Given the description of an element on the screen output the (x, y) to click on. 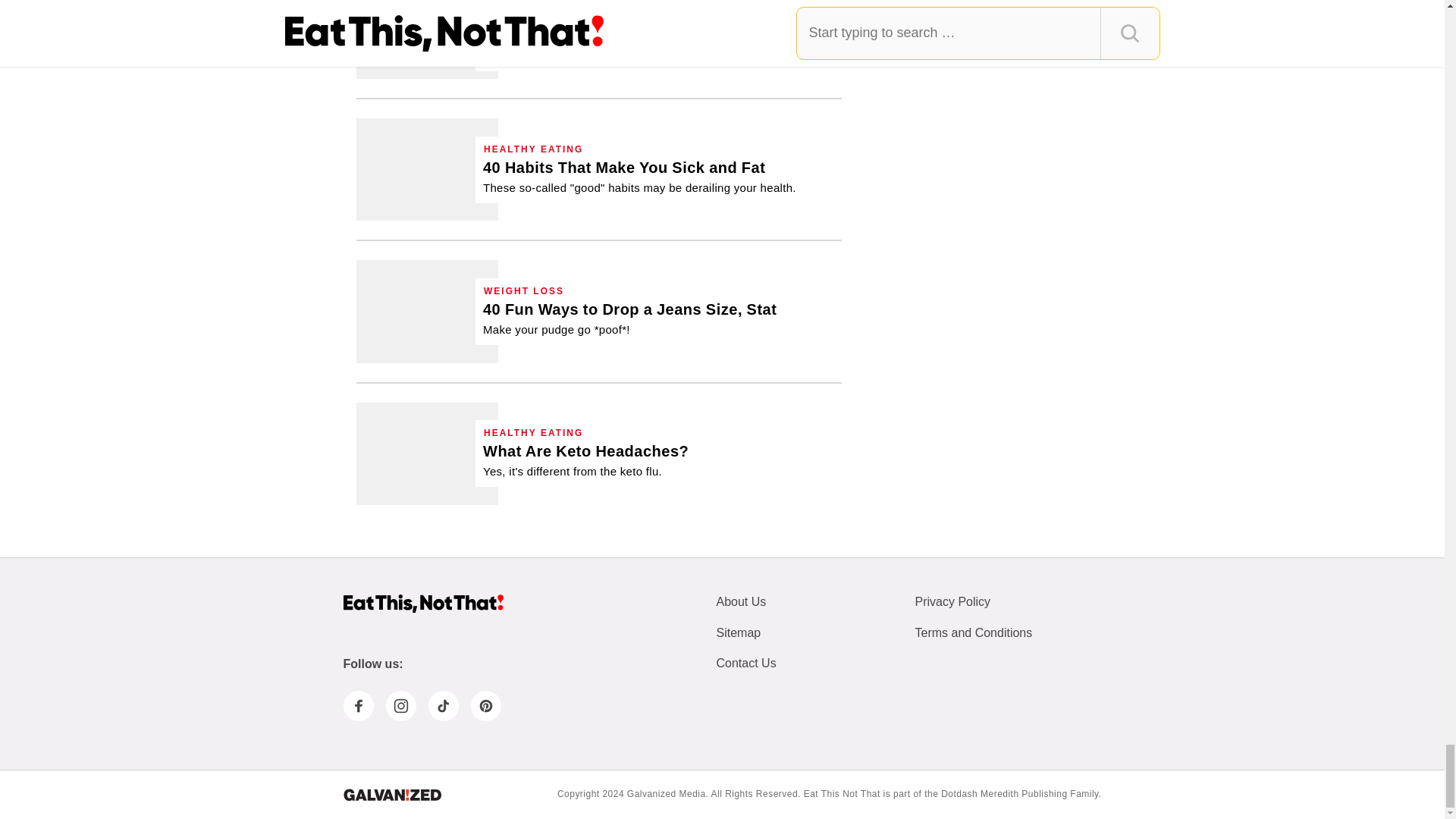
40 Habits That Make You Sick and Fat (639, 176)
20 Things You Should Never Eat at a Chain Restaurant (426, 39)
What Are Keto Headaches? We Asked the Experts (585, 460)
40 Habits That Make You Sick and Fat (426, 168)
What Are Keto Headaches? We Asked the Experts (426, 453)
20 Things You Should Never Eat at a Chain Restaurant (658, 33)
40 Fun Ways to Drop a Jeans Size, Stat! (629, 318)
40 Fun Ways to Drop a Jeans Size, Stat! (426, 311)
